Given the description of an element on the screen output the (x, y) to click on. 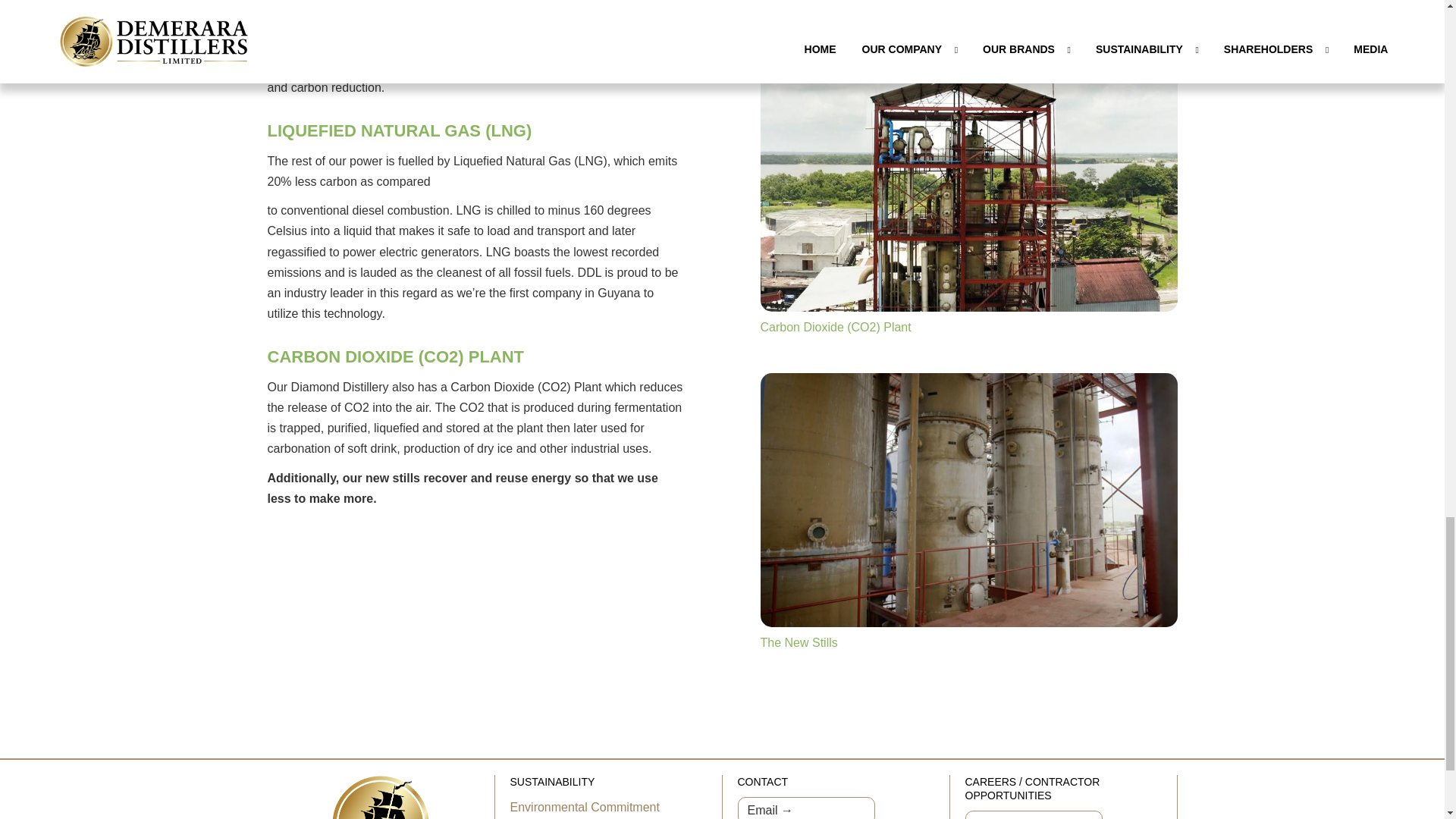
Contact us (805, 807)
Search careers (1032, 814)
